Given the description of an element on the screen output the (x, y) to click on. 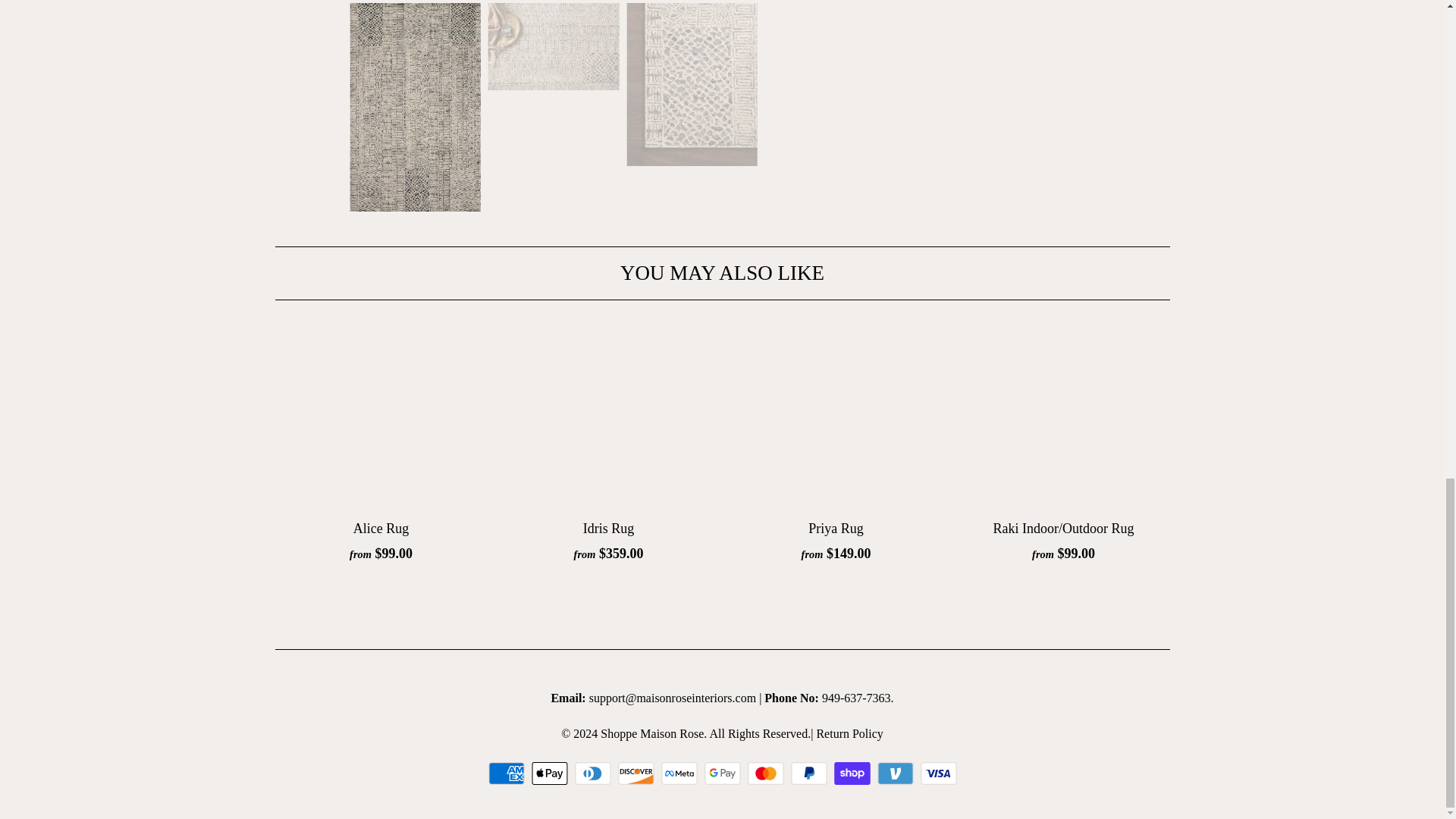
Google Pay (723, 773)
Venmo (896, 773)
Mastercard (767, 773)
Apple Pay (550, 773)
American Express (507, 773)
Visa (938, 773)
Discover (637, 773)
Diners Club (594, 773)
Shop Pay (854, 773)
PayPal (809, 773)
Meta Pay (681, 773)
